Given the description of an element on the screen output the (x, y) to click on. 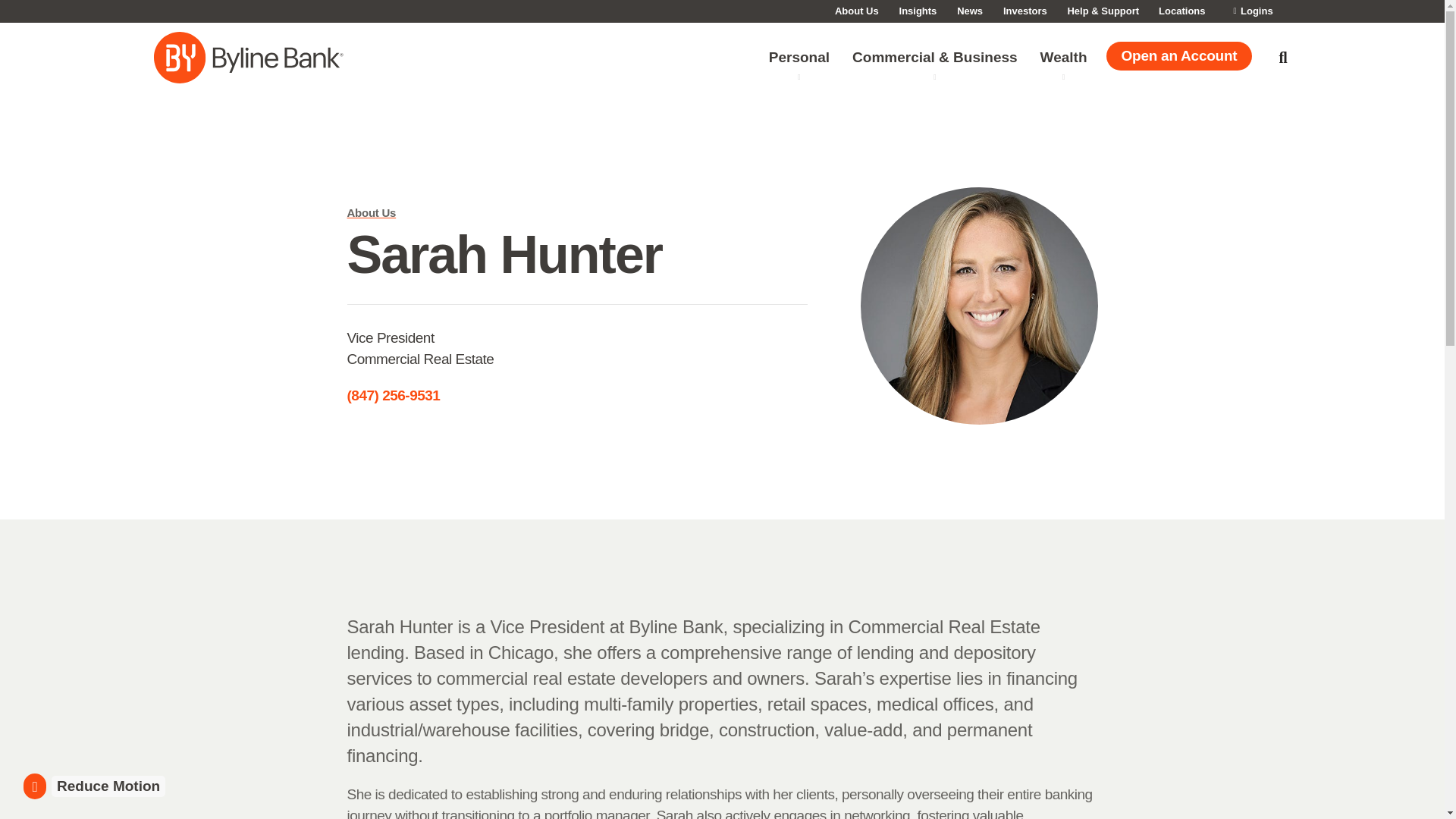
Investors (1024, 11)
Logins (1252, 11)
News (969, 11)
News (969, 11)
About Us (856, 11)
Locations (1181, 11)
Personal (799, 57)
Insights (918, 11)
Investors (1024, 11)
